Given the description of an element on the screen output the (x, y) to click on. 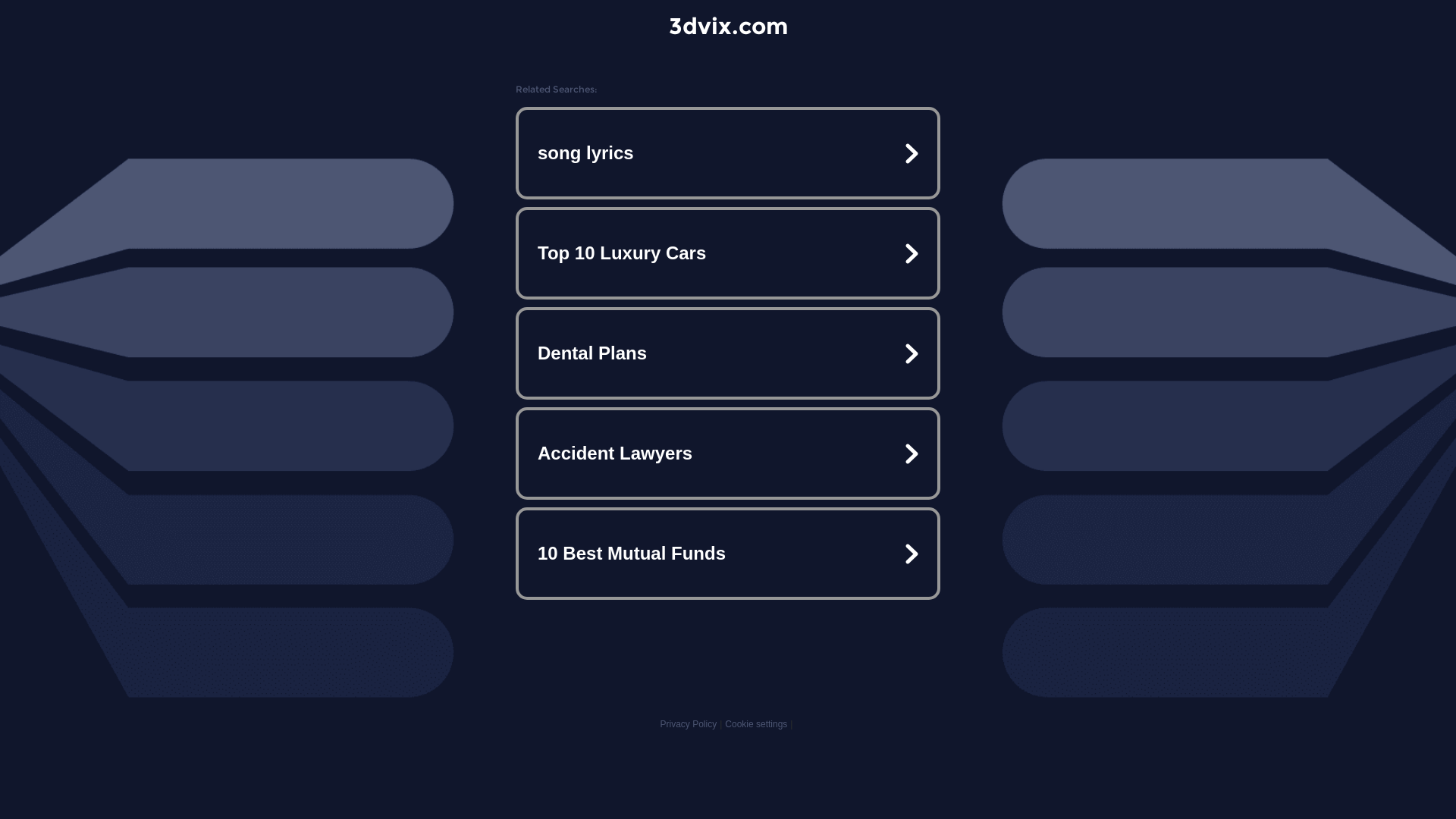
Accident Lawyers Element type: text (727, 453)
3dvix.com Element type: text (727, 26)
Cookie settings Element type: text (755, 723)
song lyrics Element type: text (727, 152)
Top 10 Luxury Cars Element type: text (727, 253)
Privacy Policy Element type: text (687, 723)
Dental Plans Element type: text (727, 353)
10 Best Mutual Funds Element type: text (727, 553)
